Given the description of an element on the screen output the (x, y) to click on. 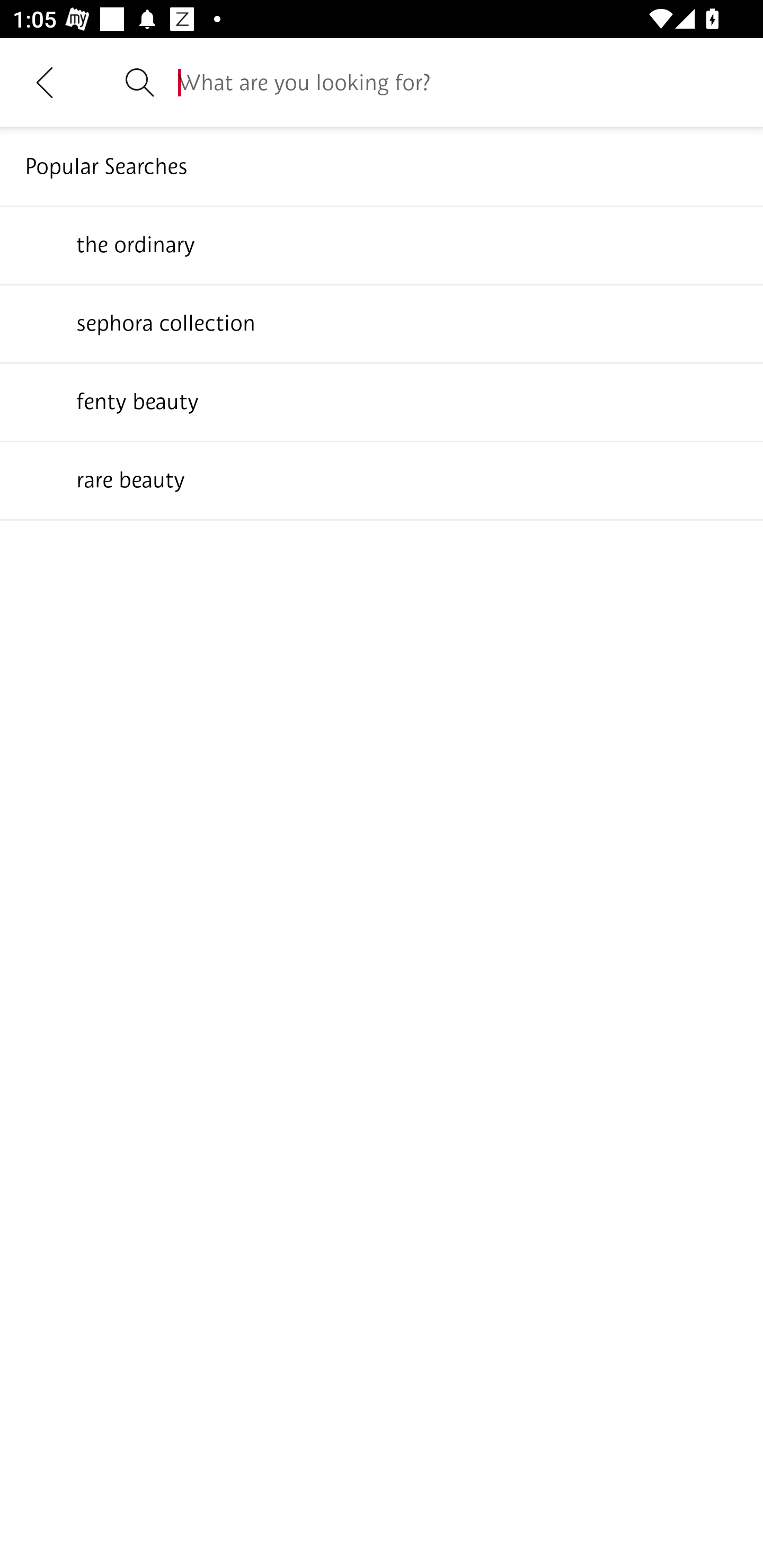
Navigate up (44, 82)
What are you looking for? (457, 82)
the ordinary (381, 244)
sephora collection (381, 322)
fenty beauty (381, 401)
rare beauty (381, 479)
